Given the description of an element on the screen output the (x, y) to click on. 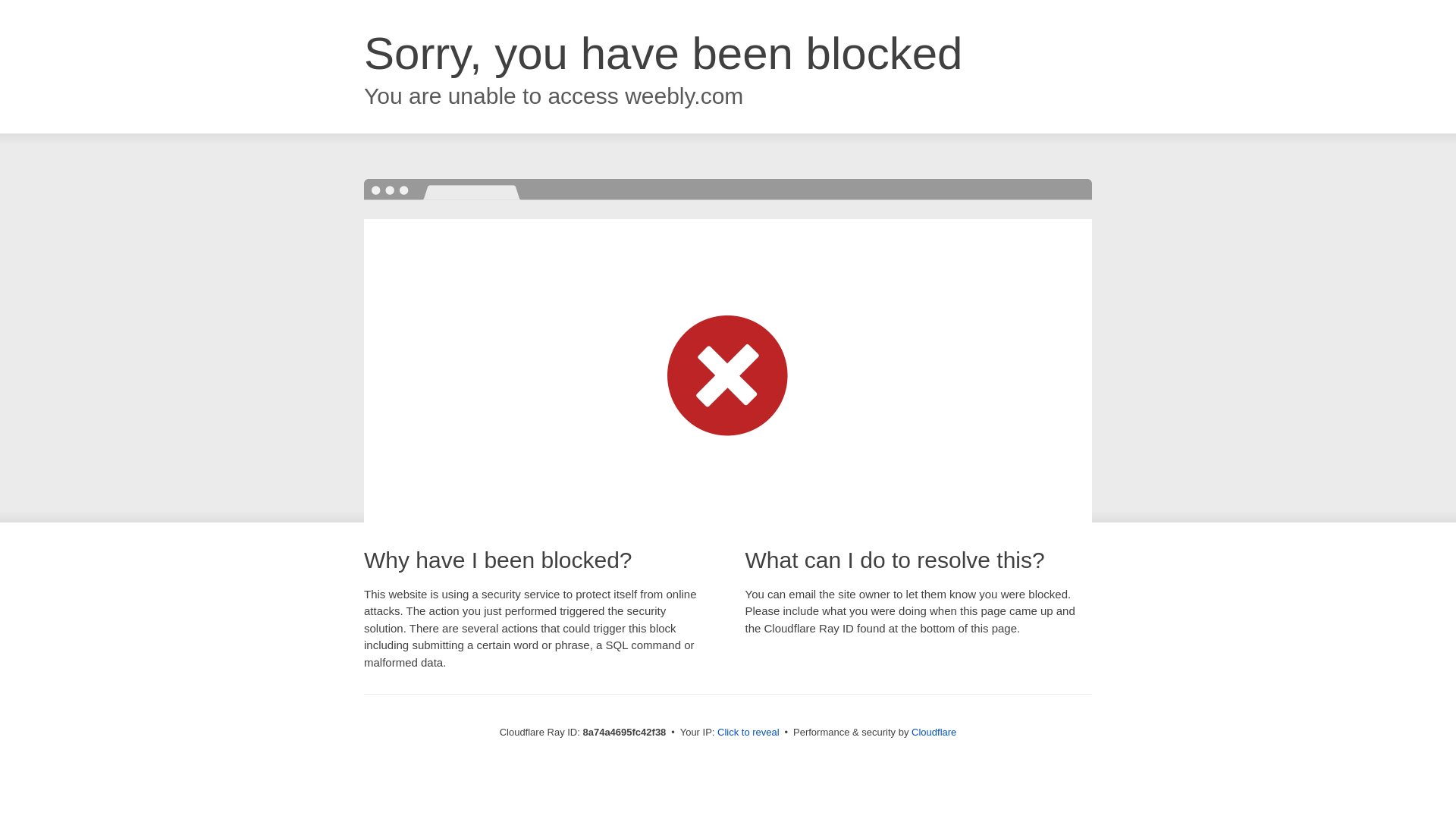
Click to reveal (747, 732)
Cloudflare (933, 731)
